Given the description of an element on the screen output the (x, y) to click on. 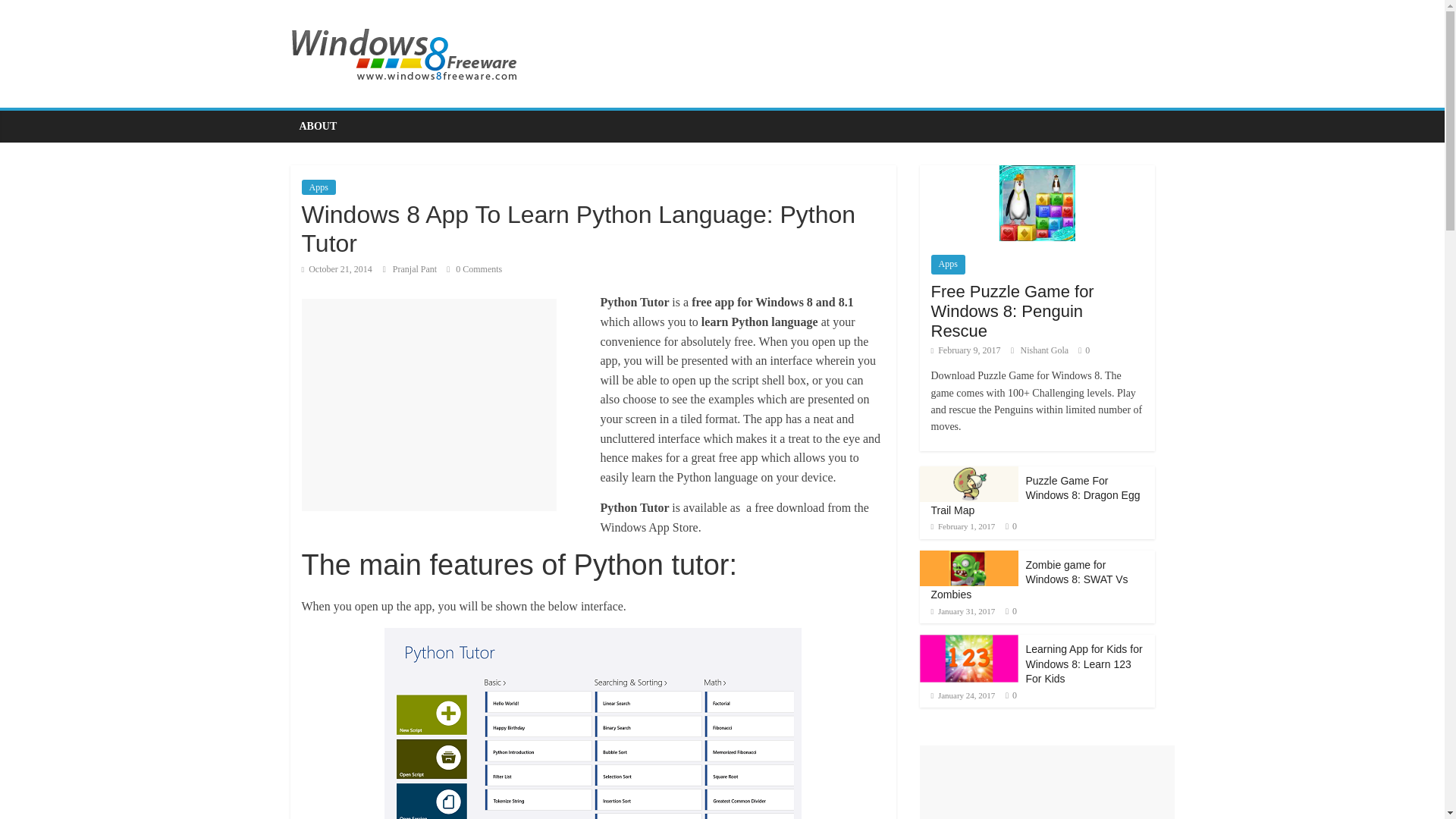
January 24, 2017 (963, 695)
Free Puzzle Game for Windows 8: Penguin Rescue (1012, 311)
Learning App for Kids for Windows 8: Learn 123 For Kids (1083, 663)
ABOUT (317, 126)
February 9, 2017 (966, 349)
Free Puzzle Game for Windows 8: Penguin Rescue (1036, 202)
January 31, 2017 (963, 610)
Apps (948, 263)
October 21, 2014 (336, 268)
Python Tutor Main Screen (593, 723)
